Given the description of an element on the screen output the (x, y) to click on. 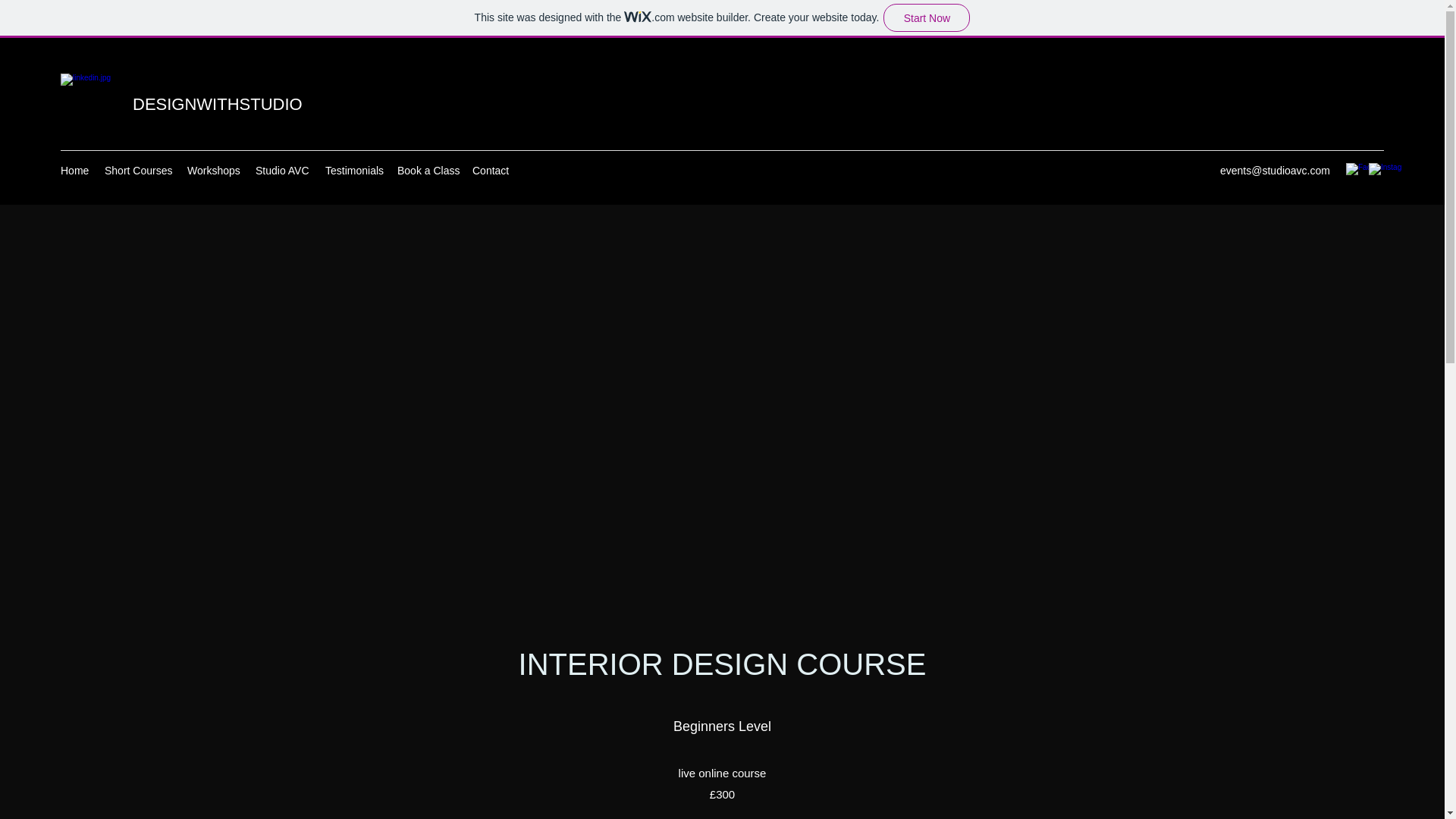
Home (74, 169)
Book a Class (427, 169)
Testimonials (353, 169)
Workshops (213, 169)
DESIGNWITHSTUDIO (217, 104)
Short Courses (138, 169)
Studio AVC (282, 169)
Contact (491, 169)
